Given the description of an element on the screen output the (x, y) to click on. 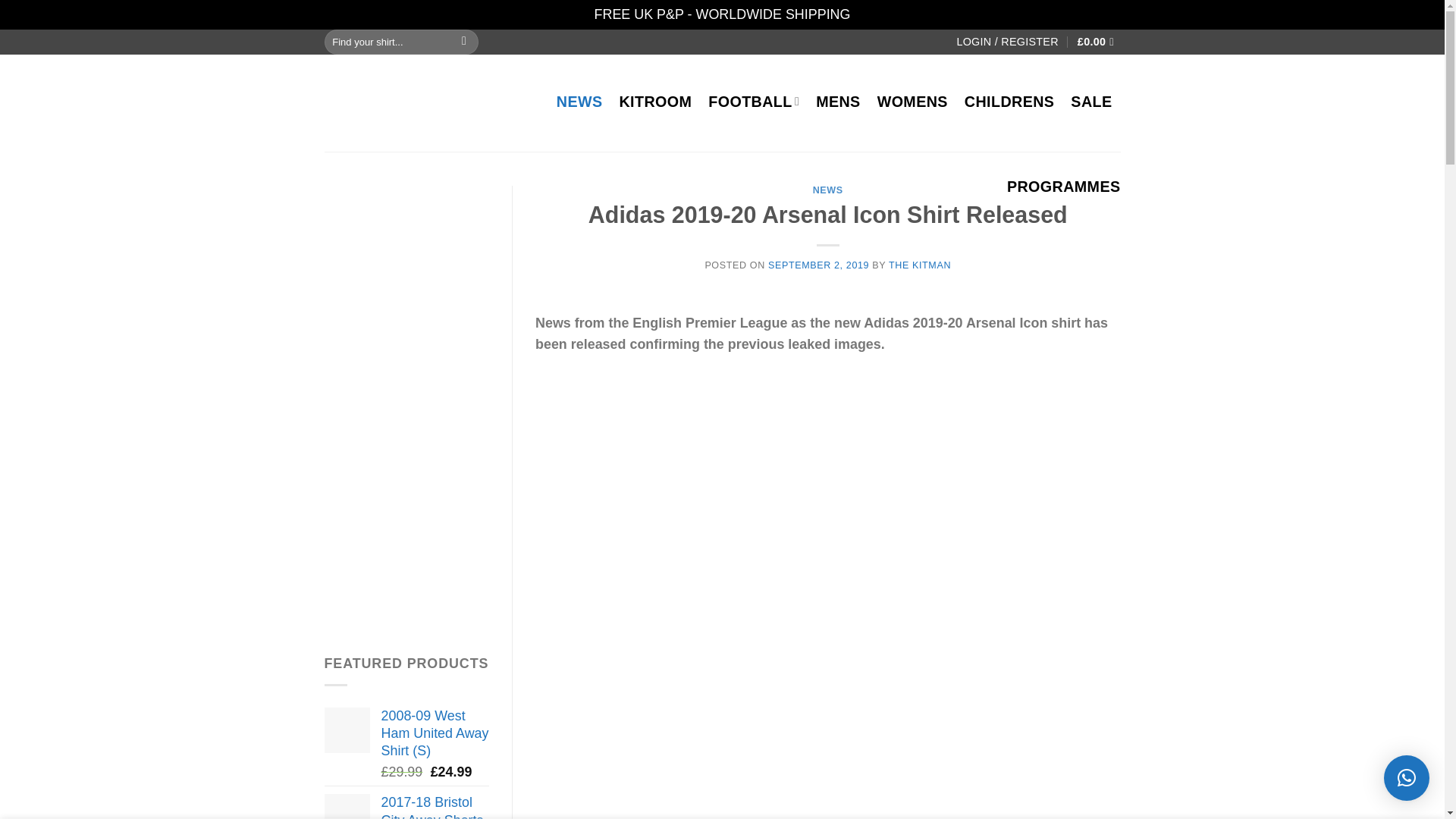
FOOTBALL (753, 101)
Basket (1099, 41)
Customer reviews powered by Trustpilot (714, 41)
Search (464, 41)
